Given the description of an element on the screen output the (x, y) to click on. 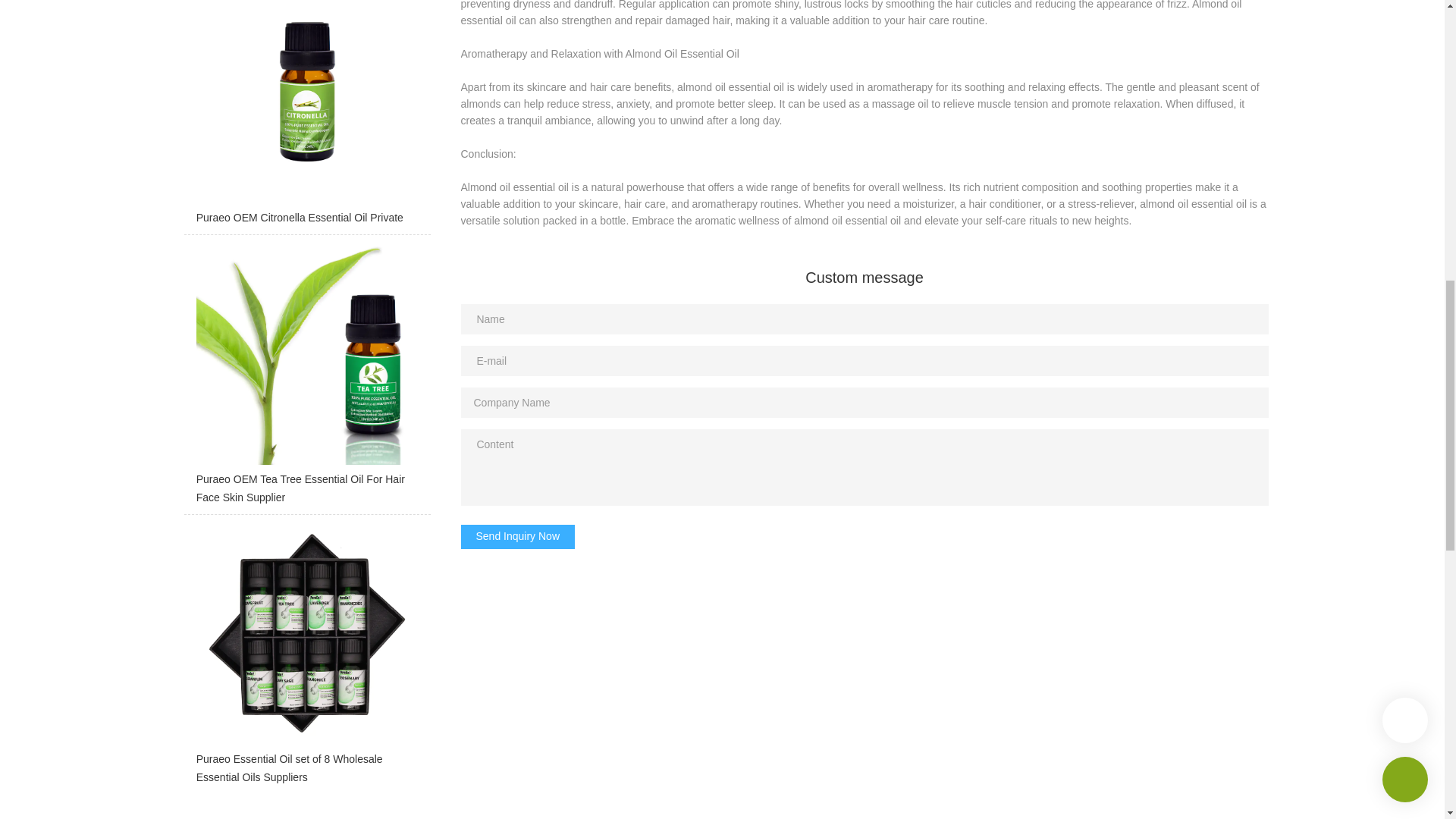
Send Inquiry Now (518, 536)
Puraeo OEM Citronella Essential Oil Private (306, 117)
